Given the description of an element on the screen output the (x, y) to click on. 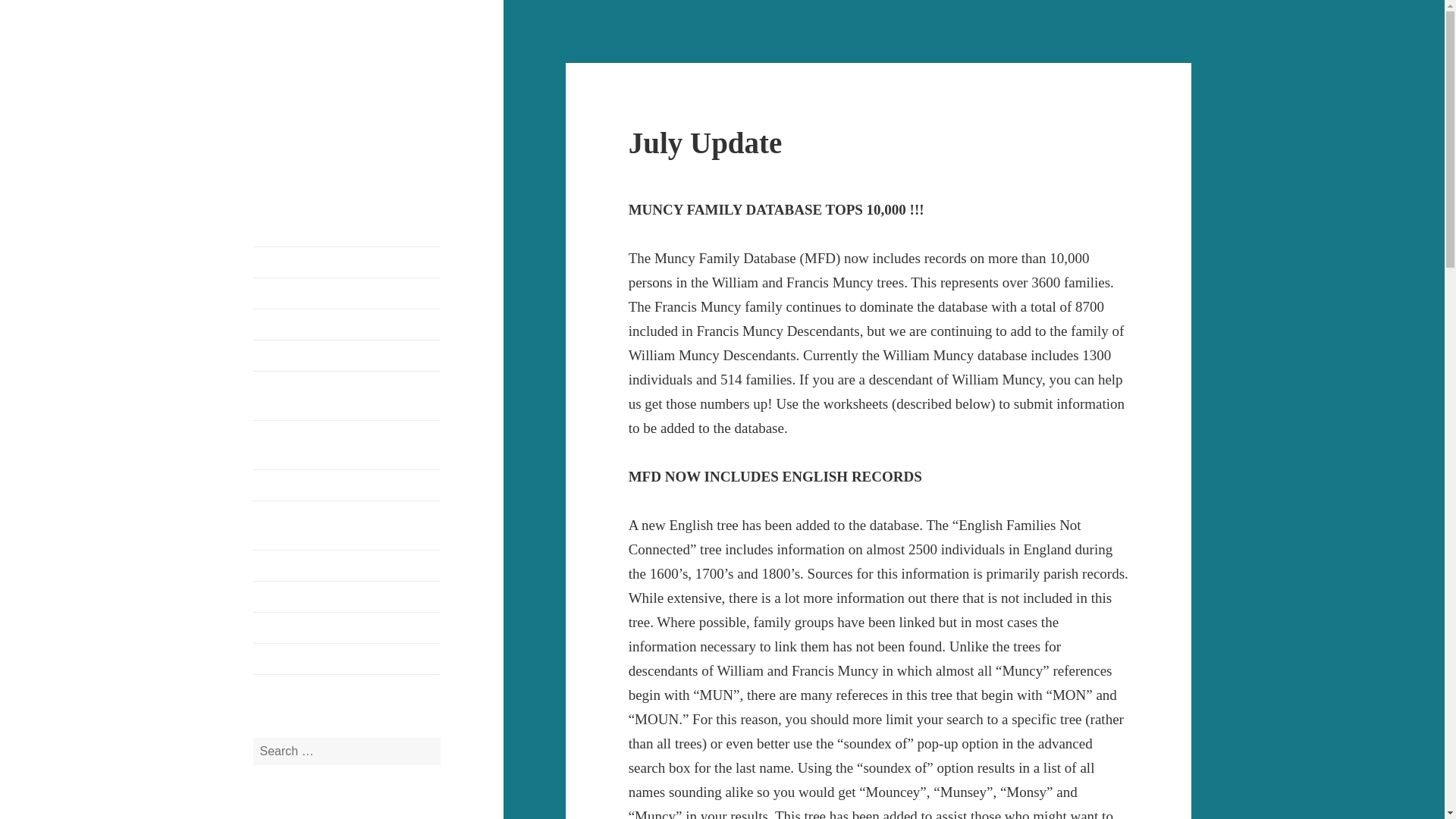
Muncy Family Info (342, 74)
Instructional Guide to Muncy Family Database (347, 525)
Home (347, 658)
Research Data (347, 565)
MUNCY FAMILY DATABASE (347, 262)
Muncey Project at FTDNA (347, 627)
Contact Us (347, 293)
Muncy Family Database (347, 485)
Reference Sources (347, 596)
About Muncy Family Info (347, 324)
